Given the description of an element on the screen output the (x, y) to click on. 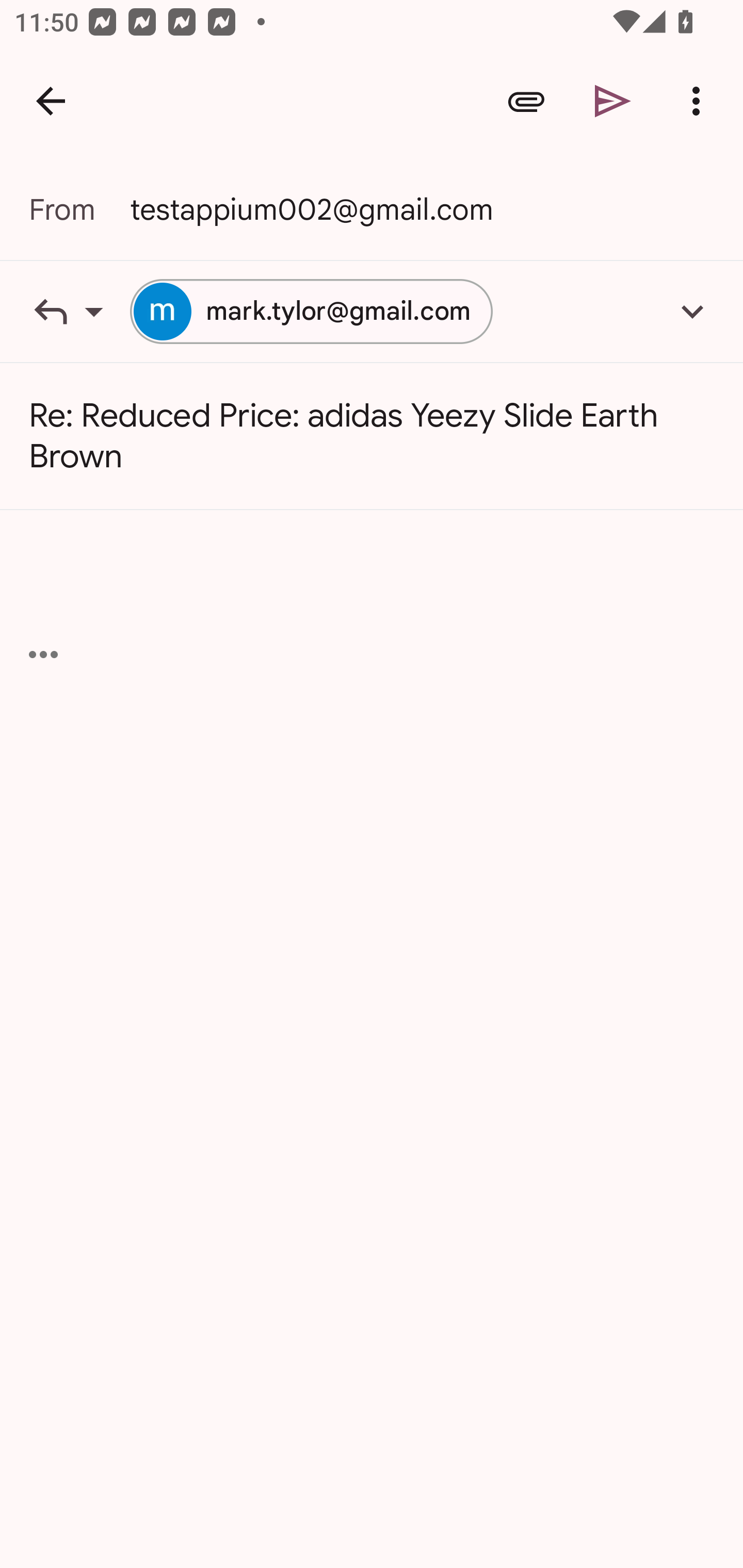
Navigate up (50, 101)
Attach file (525, 101)
Send (612, 101)
More options (699, 101)
From (79, 209)
Reply (79, 311)
Add Cc/Bcc (692, 311)
Re: Reduced Price: adidas Yeezy Slide Earth Brown (371, 436)
Include quoted text (43, 654)
